Given the description of an element on the screen output the (x, y) to click on. 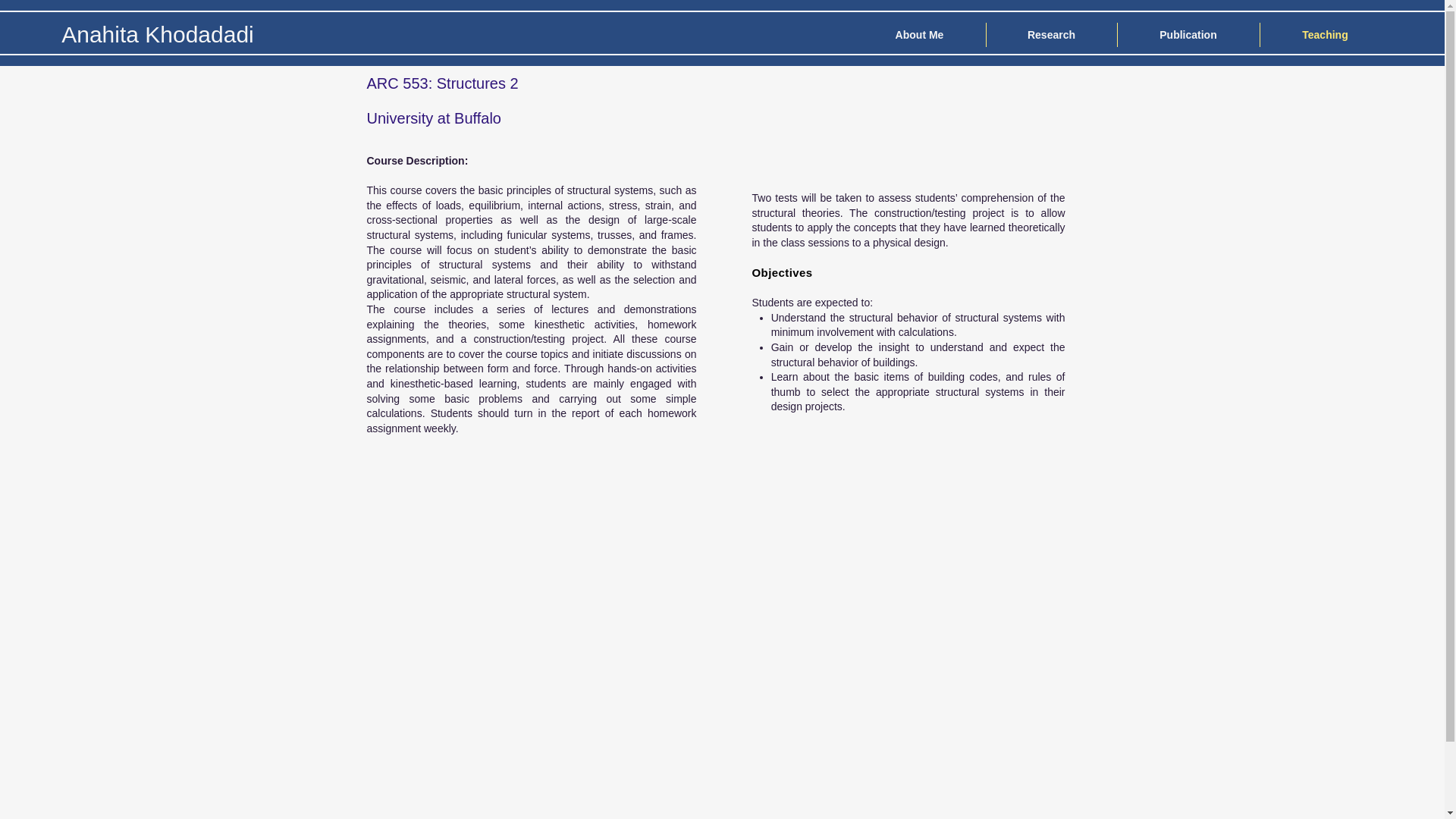
Teaching (1325, 34)
Research (1050, 34)
Publication (1188, 34)
Anahita Khodadadi (157, 34)
About Me (919, 34)
